Given the description of an element on the screen output the (x, y) to click on. 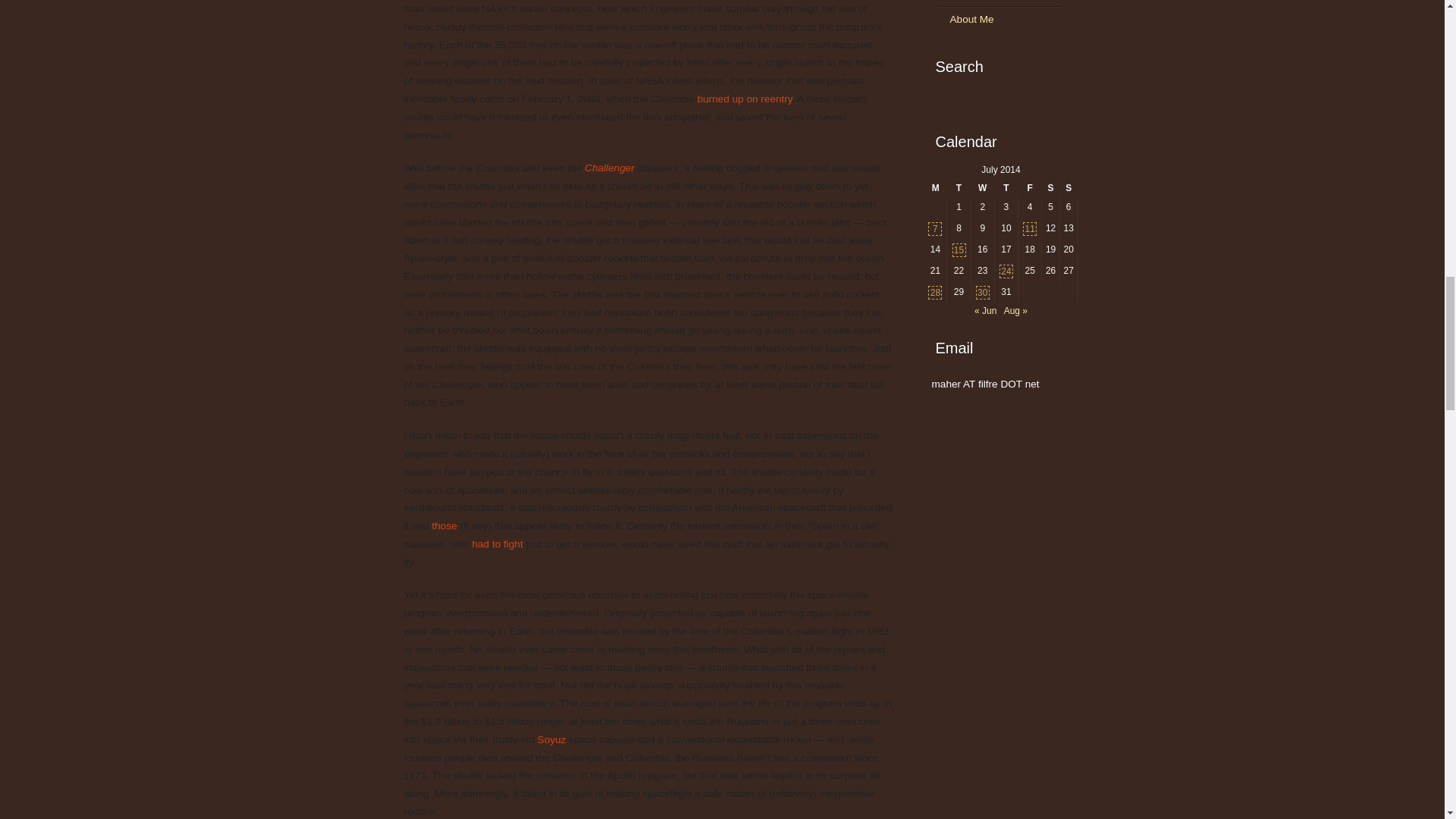
had to fight (496, 543)
Friday (1029, 188)
Soyuz (551, 739)
Challenger (609, 167)
Saturday (1050, 188)
Thursday (1005, 188)
Search (1064, 99)
those (444, 525)
Tuesday (959, 188)
Wednesday (982, 188)
